Given the description of an element on the screen output the (x, y) to click on. 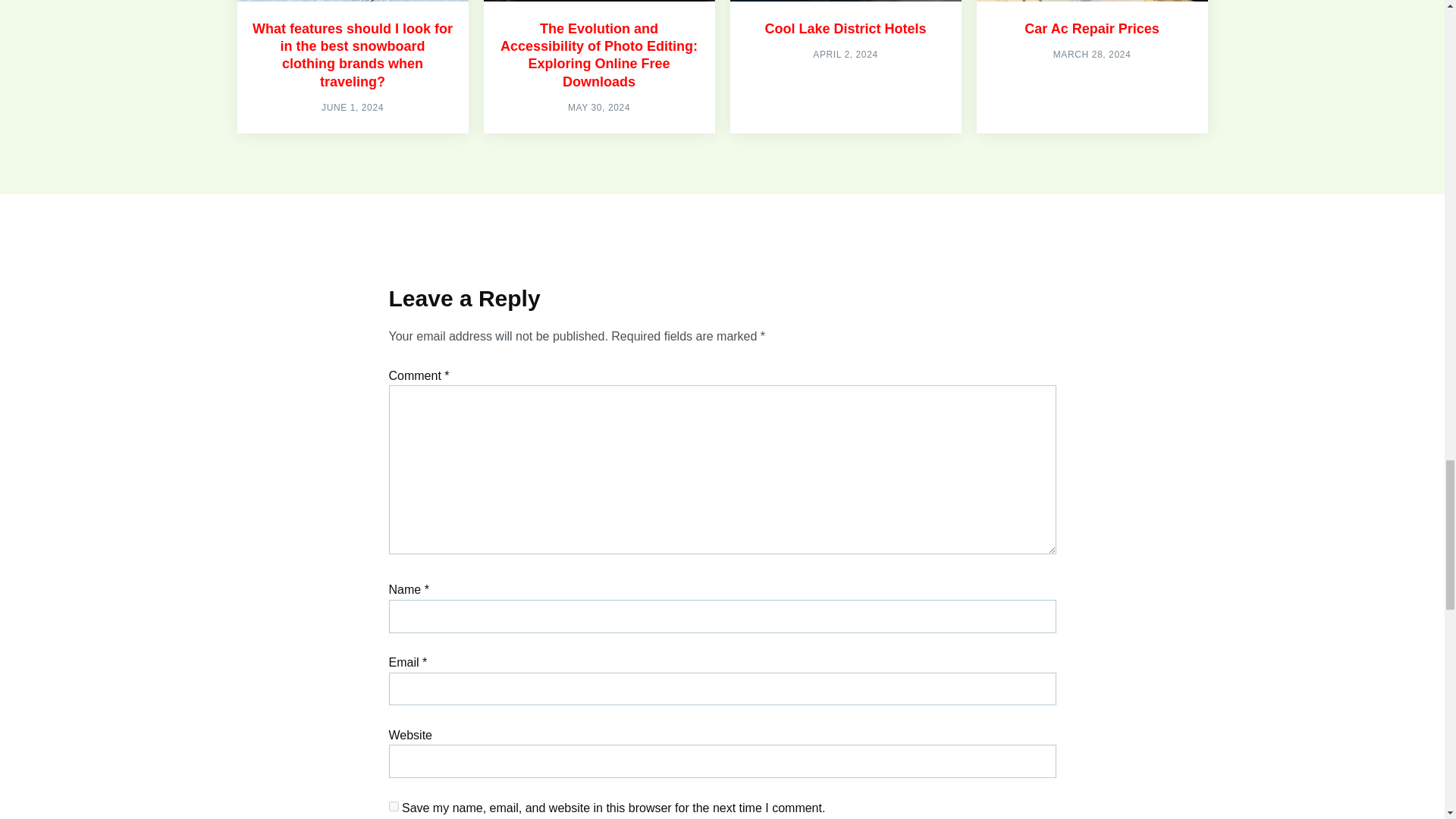
yes (392, 806)
